Given the description of an element on the screen output the (x, y) to click on. 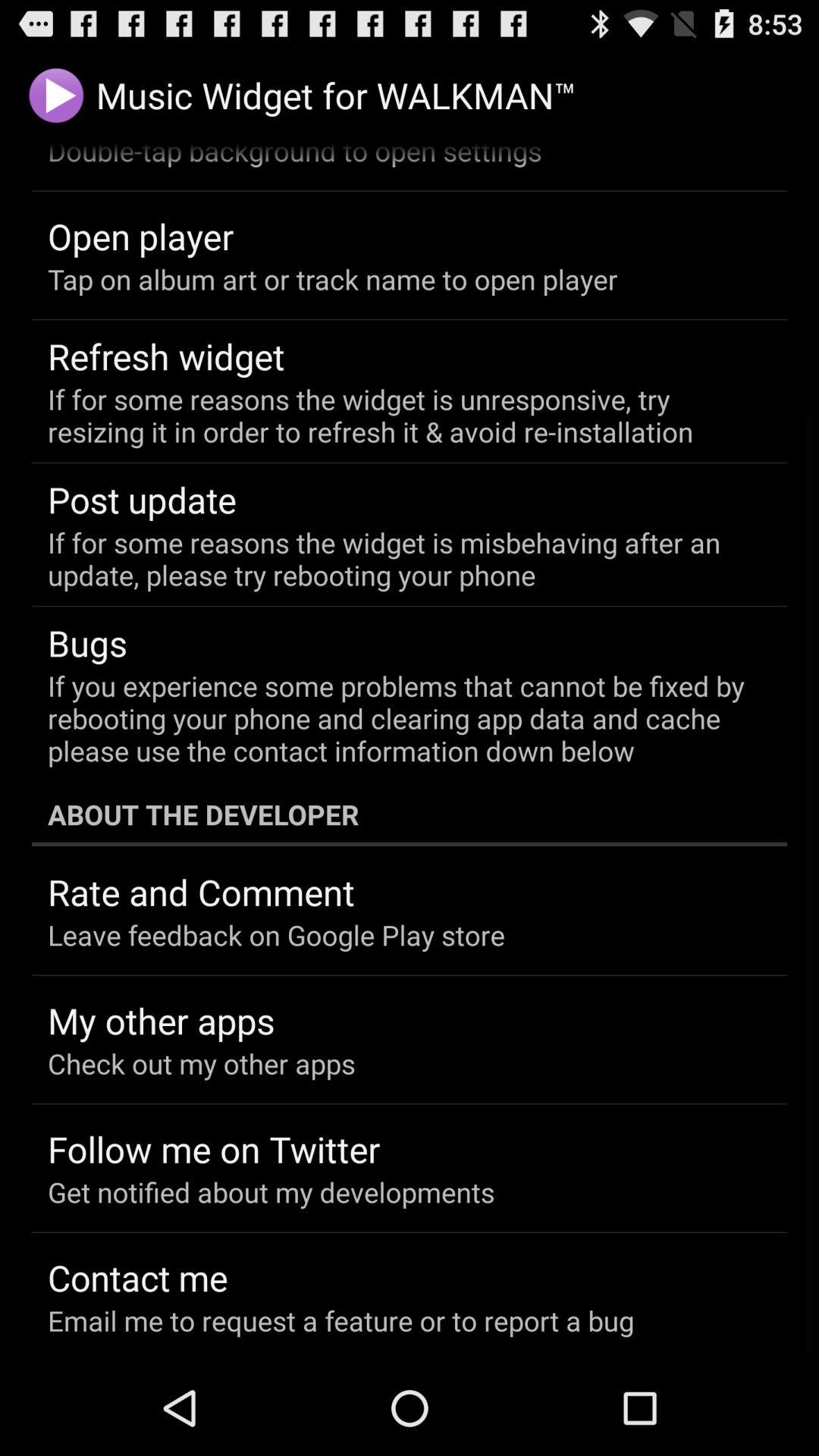
scroll to the bugs item (87, 642)
